Given the description of an element on the screen output the (x, y) to click on. 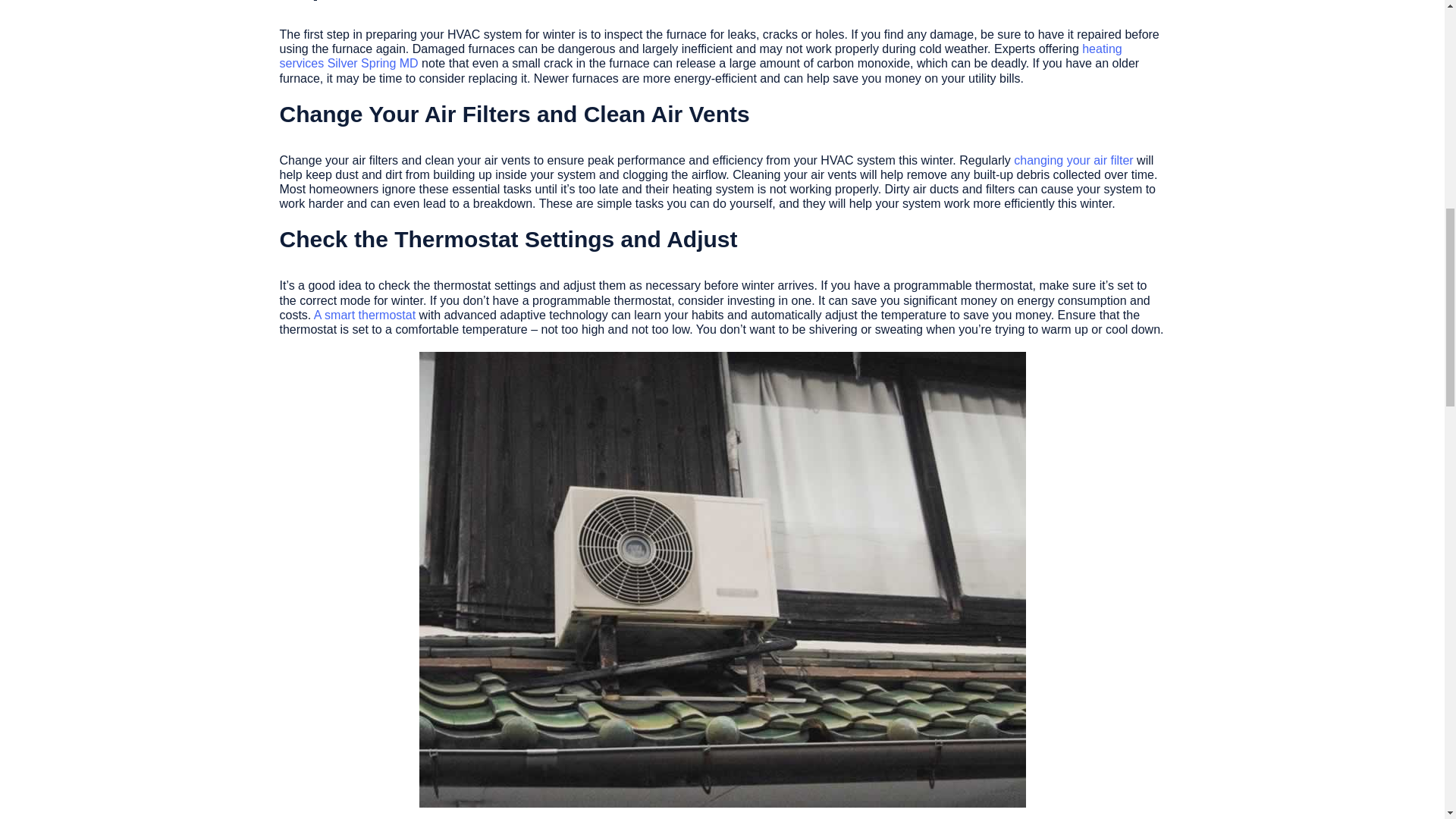
A smart thermostat (364, 314)
changing your air filter (1072, 160)
heating services Silver Spring MD (700, 55)
